Given the description of an element on the screen output the (x, y) to click on. 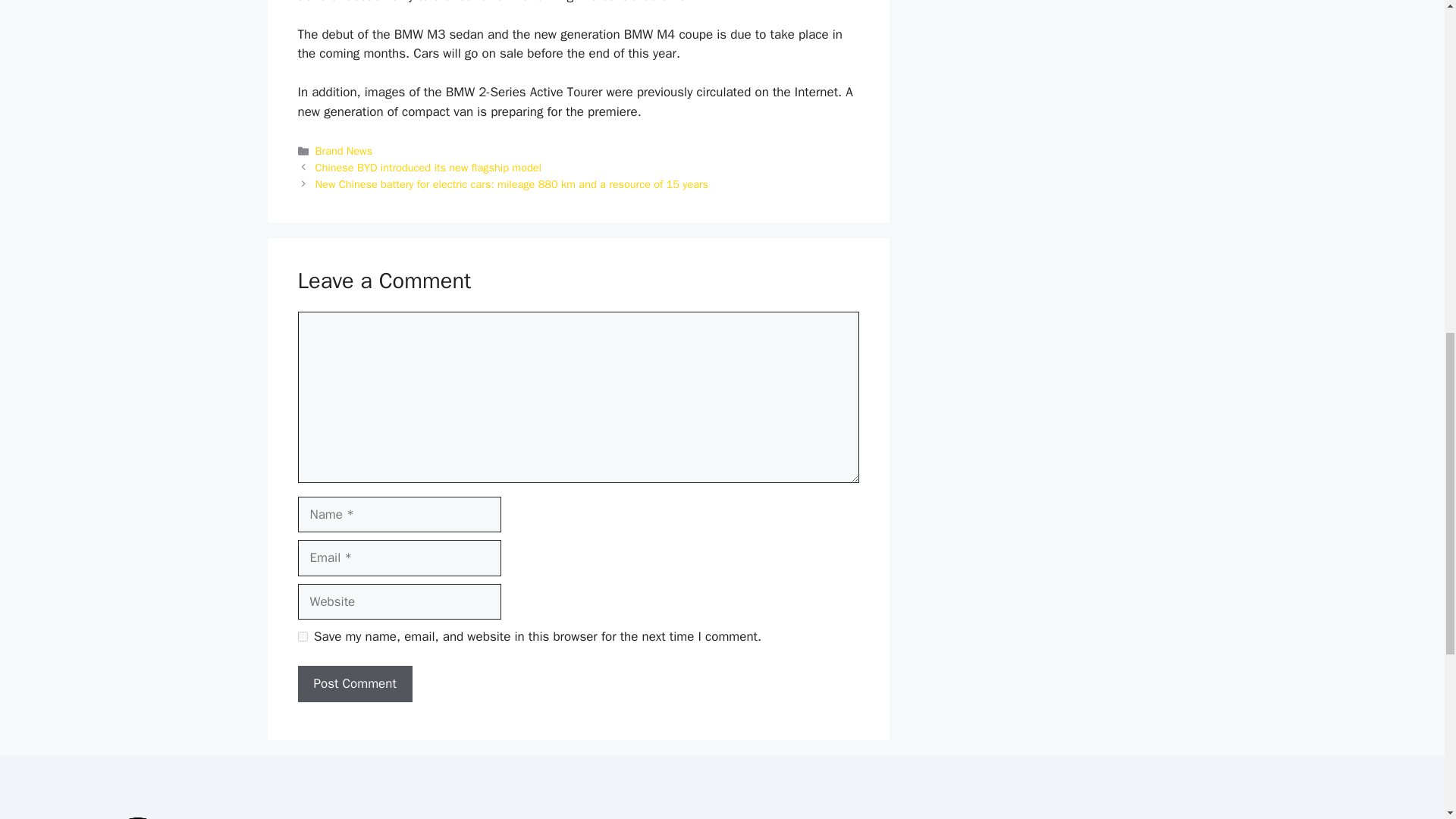
Brand News (343, 151)
yes (302, 636)
Chinese BYD introduced its new flagship model (428, 167)
Post Comment (354, 683)
